Given the description of an element on the screen output the (x, y) to click on. 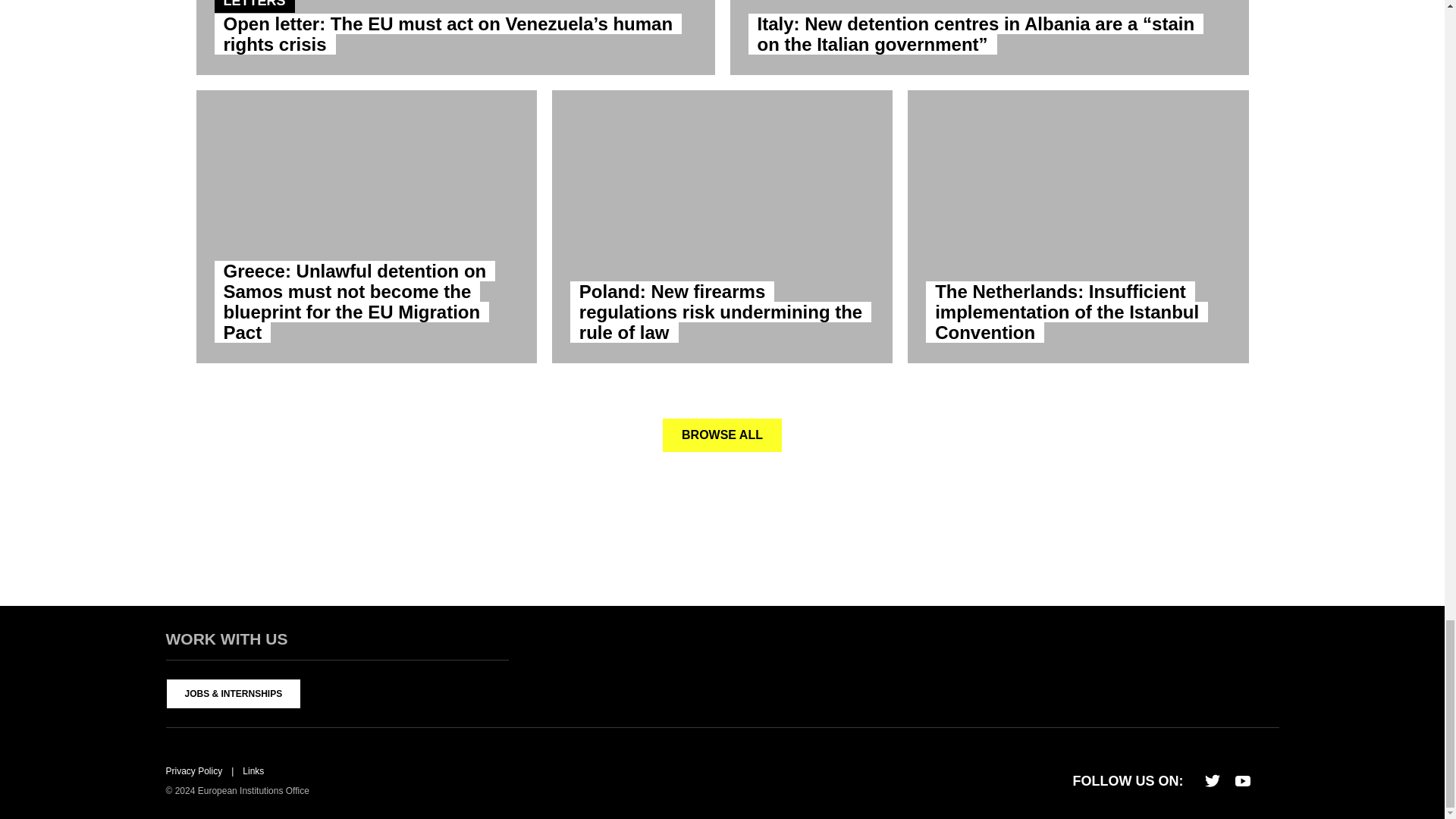
BROWSE ALL (721, 434)
Links (253, 771)
LETTERS (254, 6)
Privacy Policy (193, 771)
WORK WITH US (336, 643)
Twitter (1211, 780)
